Given the description of an element on the screen output the (x, y) to click on. 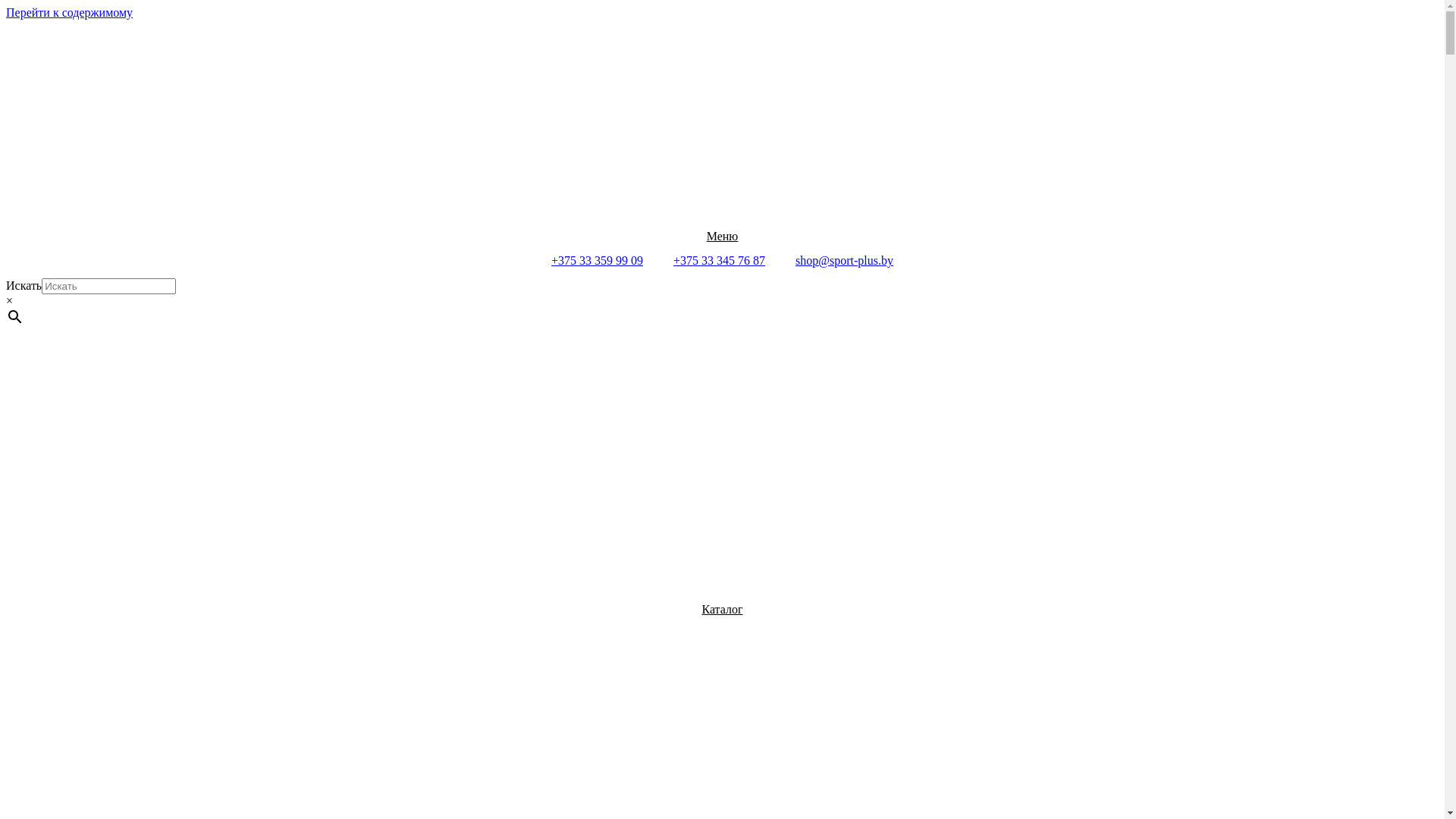
+375 33 345 76 87 Element type: text (719, 260)
+375 33 359 99 09 Element type: text (597, 260)
shop@sport-plus.by Element type: text (844, 260)
